Given the description of an element on the screen output the (x, y) to click on. 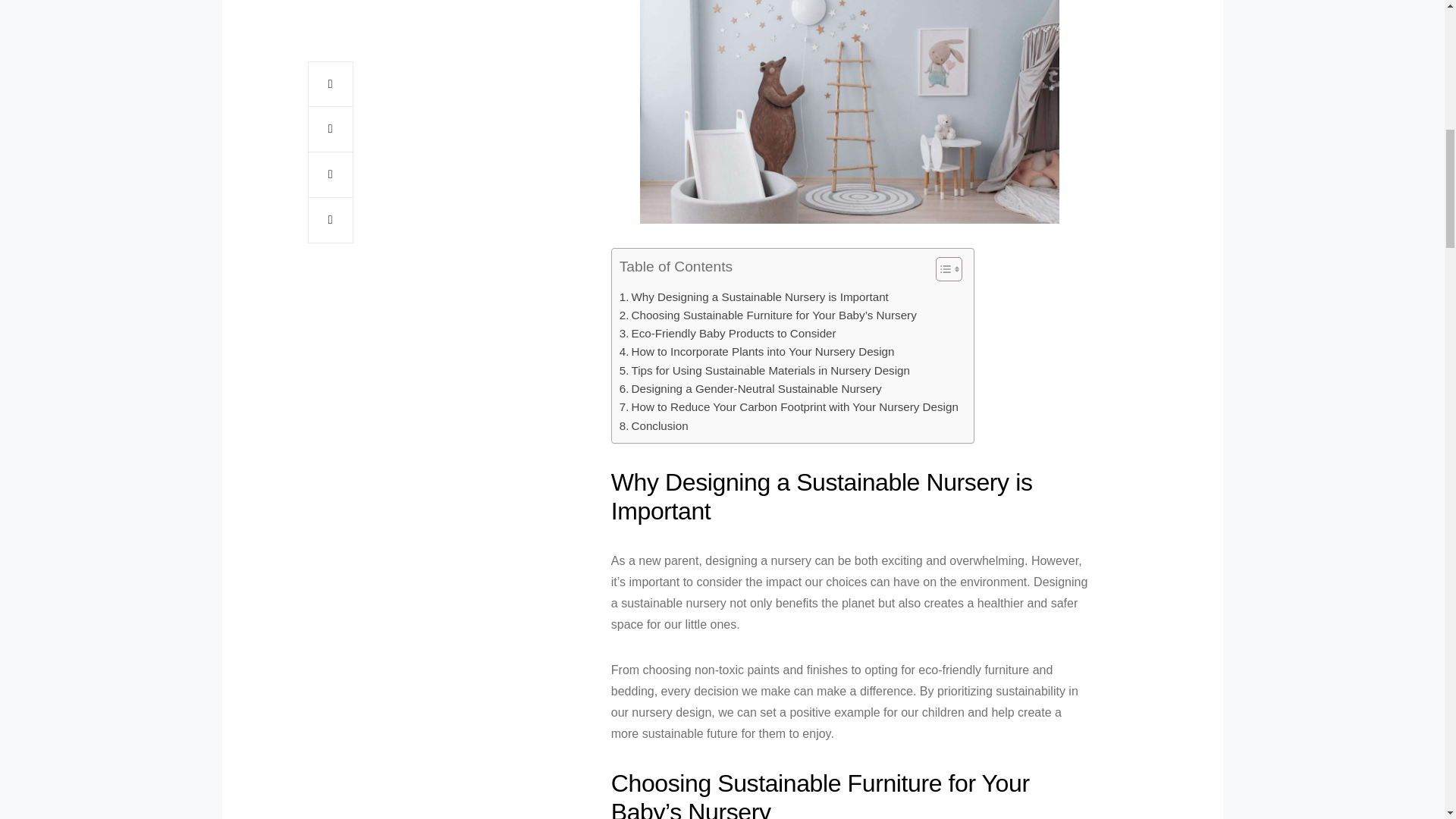
Eco-Friendly Baby Products to Consider (727, 333)
Tips for Using Sustainable Materials in Nursery Design (765, 370)
How to Incorporate Plants into Your Nursery Design (757, 352)
Eco-Friendly Baby Products to Consider (727, 333)
How to Reduce Your Carbon Footprint with Your Nursery Design (789, 407)
How to Incorporate Plants into Your Nursery Design (757, 352)
Tips for Using Sustainable Materials in Nursery Design (765, 370)
Conclusion (654, 425)
Why Designing a Sustainable Nursery is Important (754, 297)
Why Designing a Sustainable Nursery is Important (754, 297)
Designing a Gender-Neutral Sustainable Nursery (751, 389)
